Given the description of an element on the screen output the (x, y) to click on. 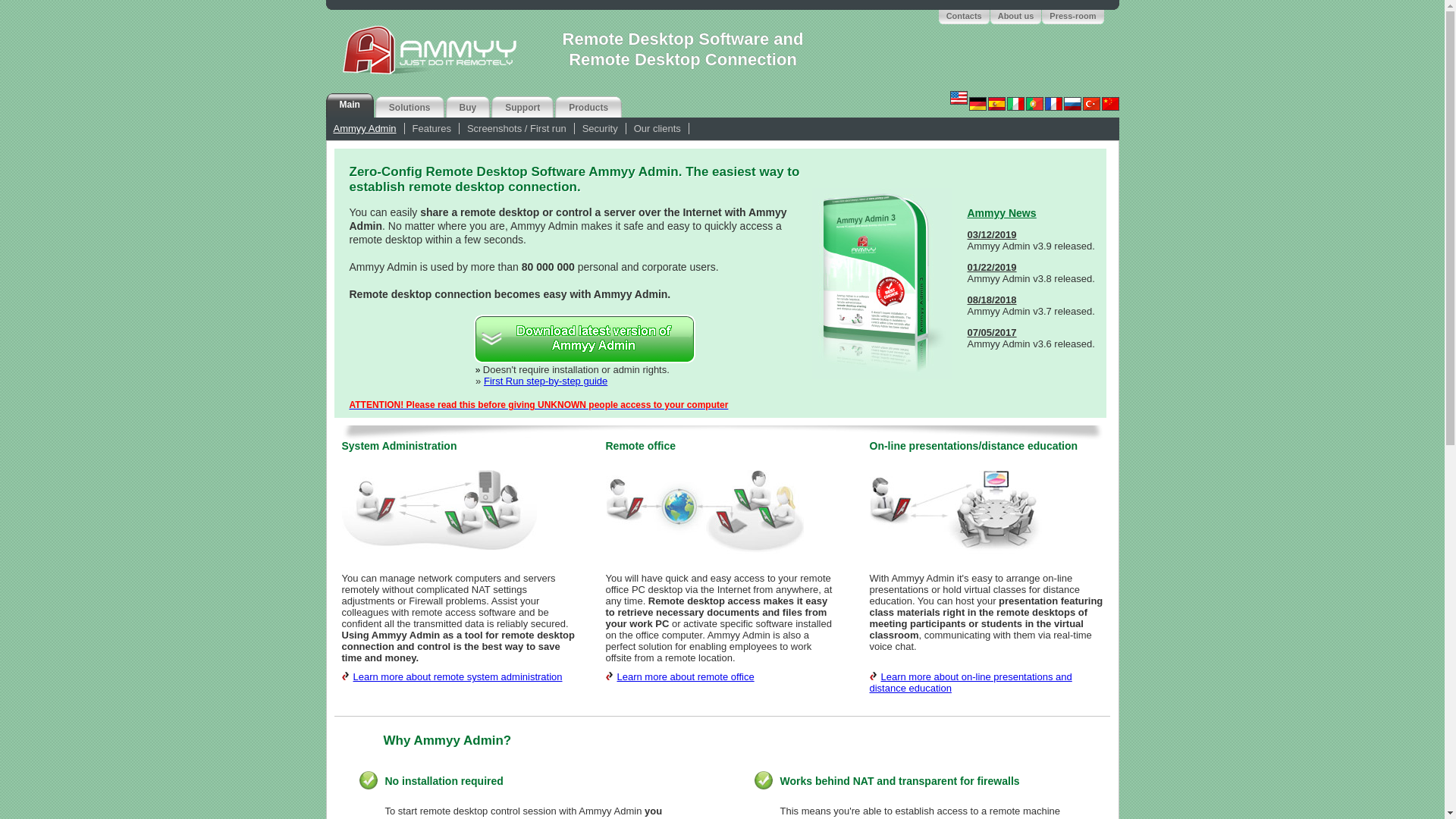
Our clients (657, 128)
Contacts (967, 16)
Features (431, 128)
Learn more about remote system administration (457, 676)
Support (525, 106)
Ammyy News (1002, 213)
Products (590, 106)
Press-room (1075, 16)
Ammyy Admin (365, 128)
